Given the description of an element on the screen output the (x, y) to click on. 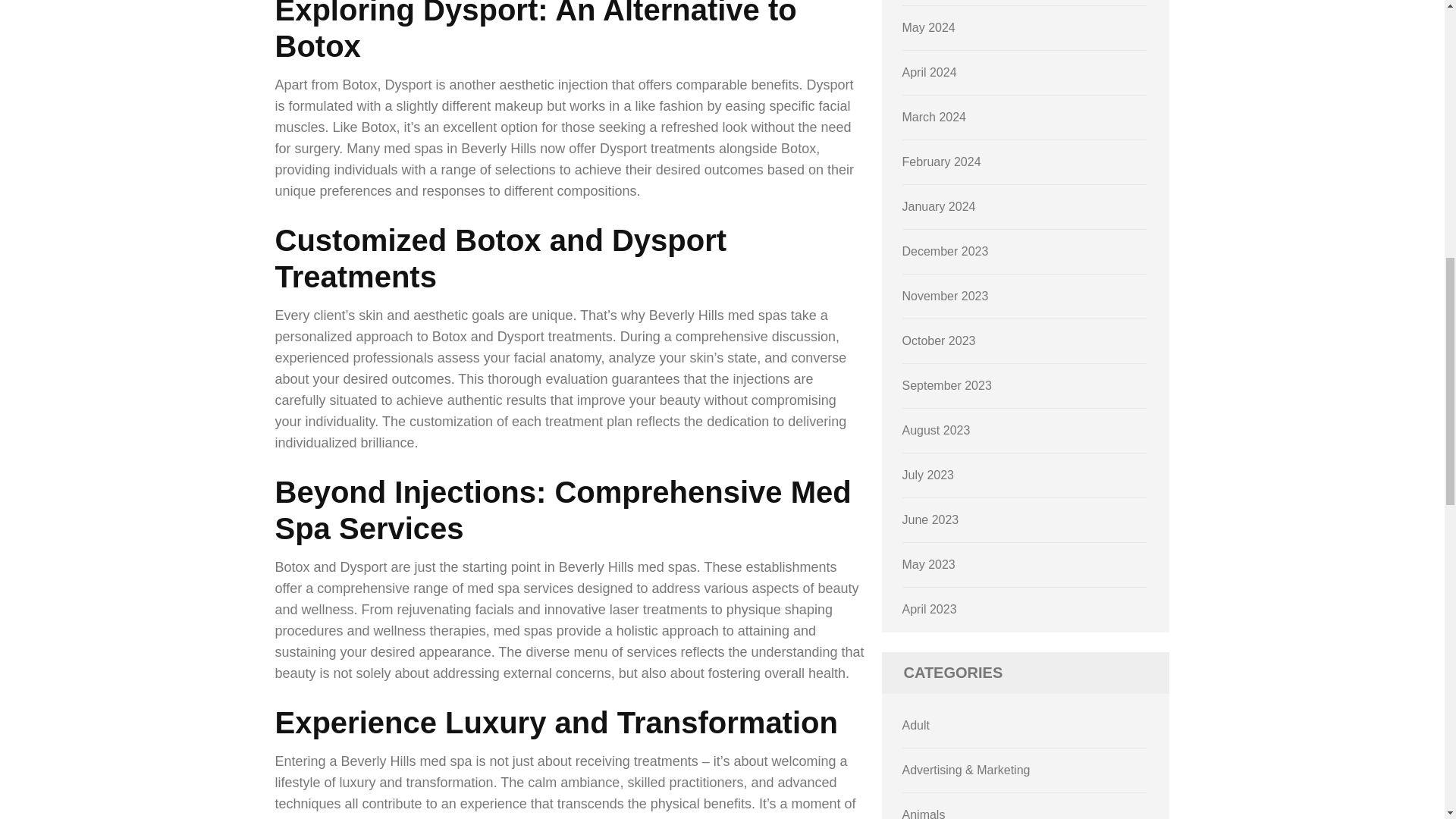
November 2023 (945, 295)
October 2023 (938, 340)
December 2023 (945, 250)
September 2023 (946, 385)
May 2024 (928, 27)
April 2023 (929, 608)
January 2024 (938, 205)
February 2024 (941, 161)
June 2023 (930, 519)
April 2024 (929, 72)
July 2023 (928, 474)
March 2024 (934, 116)
August 2023 (936, 430)
May 2023 (928, 563)
Adult (916, 725)
